Given the description of an element on the screen output the (x, y) to click on. 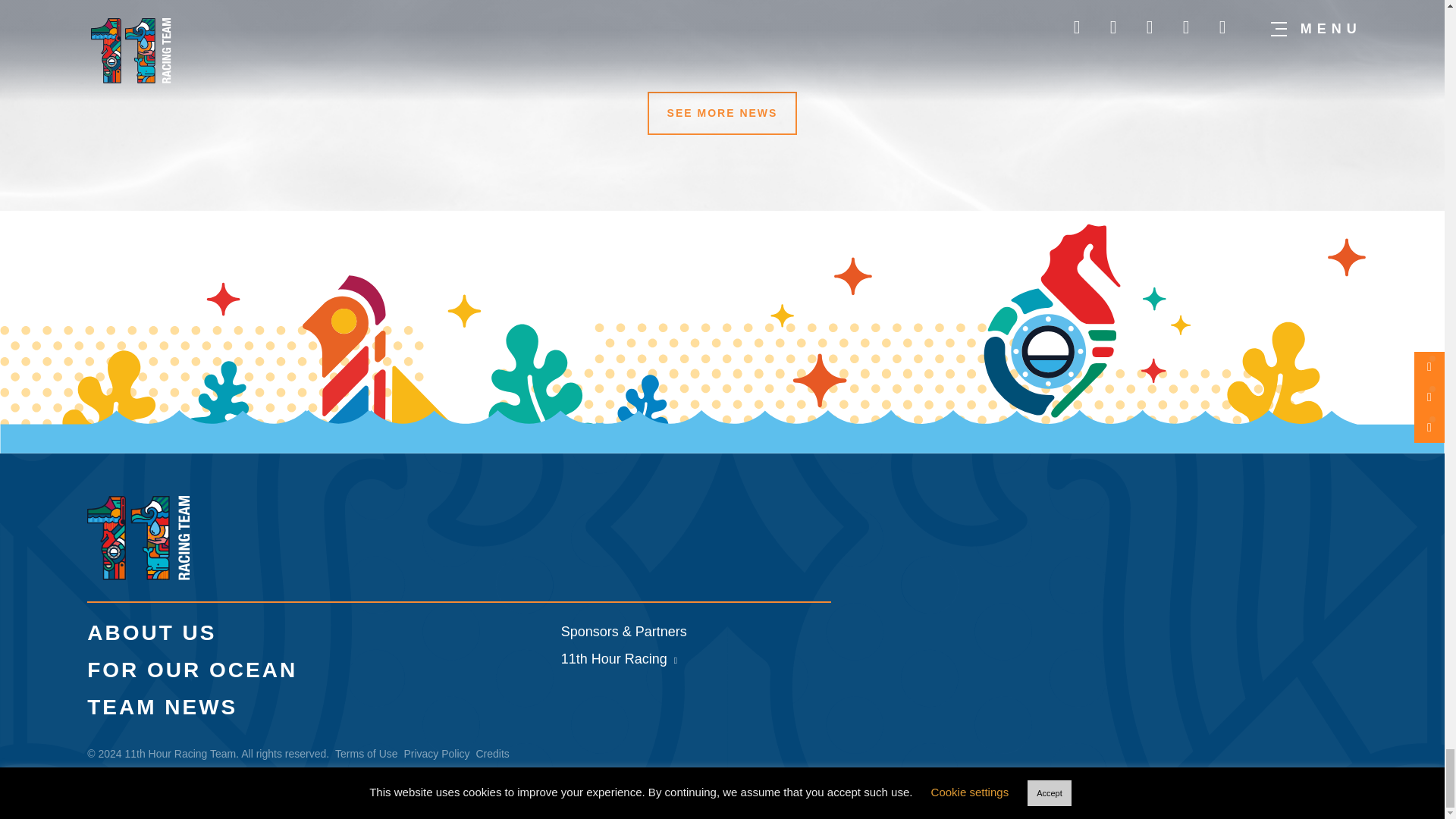
TEAM NEWS (162, 707)
11th Hour Racing Team (138, 575)
SEE MORE NEWS (722, 113)
FOR OUR OCEAN (192, 669)
ABOUT US (151, 632)
